Given the description of an element on the screen output the (x, y) to click on. 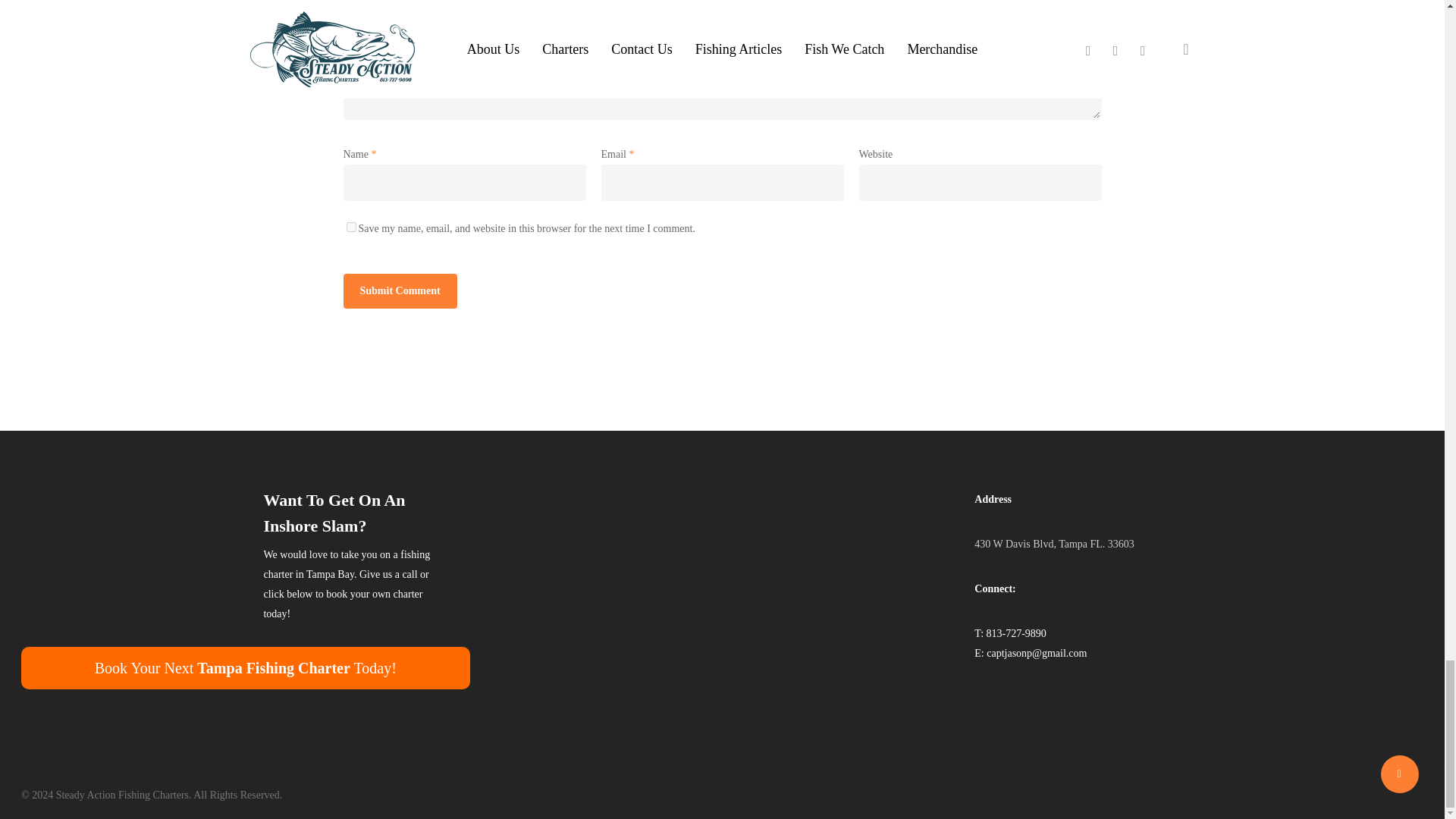
Submit Comment (399, 290)
Submit Comment (399, 290)
yes (350, 226)
